Given the description of an element on the screen output the (x, y) to click on. 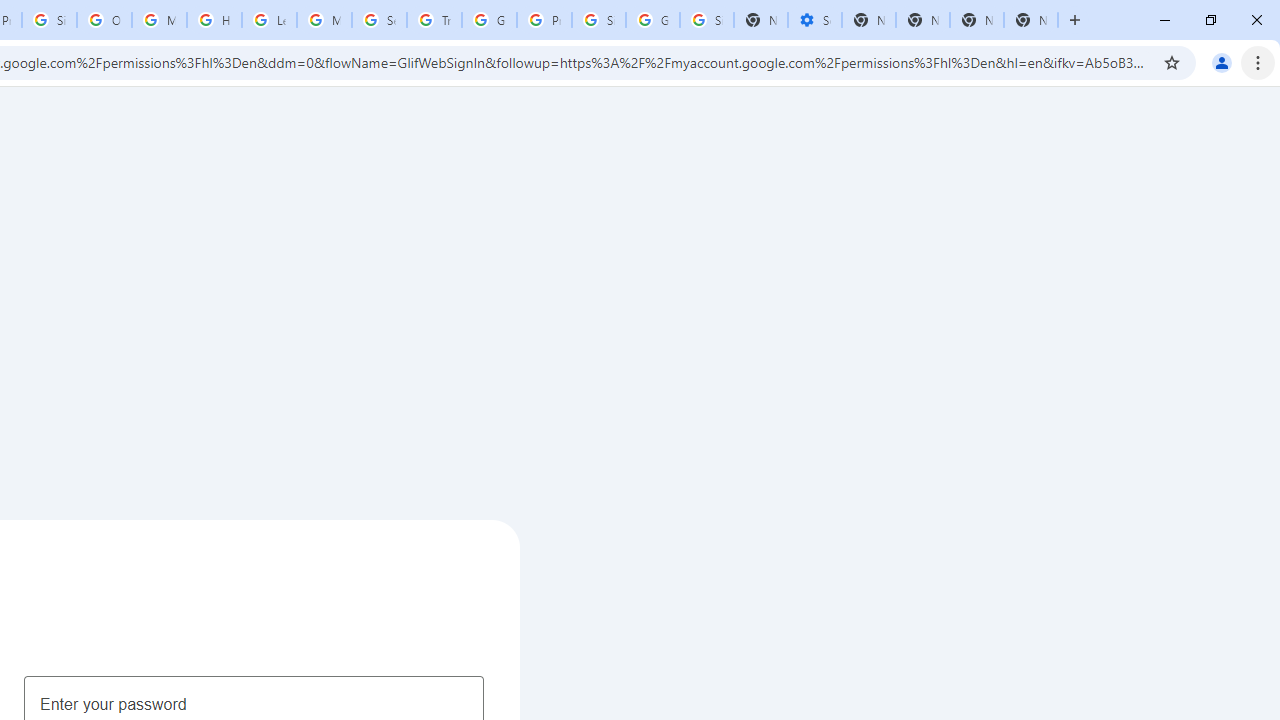
Sign in - Google Accounts (706, 20)
Google Cybersecurity Innovations - Google Safety Center (652, 20)
New Tab (1030, 20)
Trusted Information and Content - Google Safety Center (434, 20)
